Given the description of an element on the screen output the (x, y) to click on. 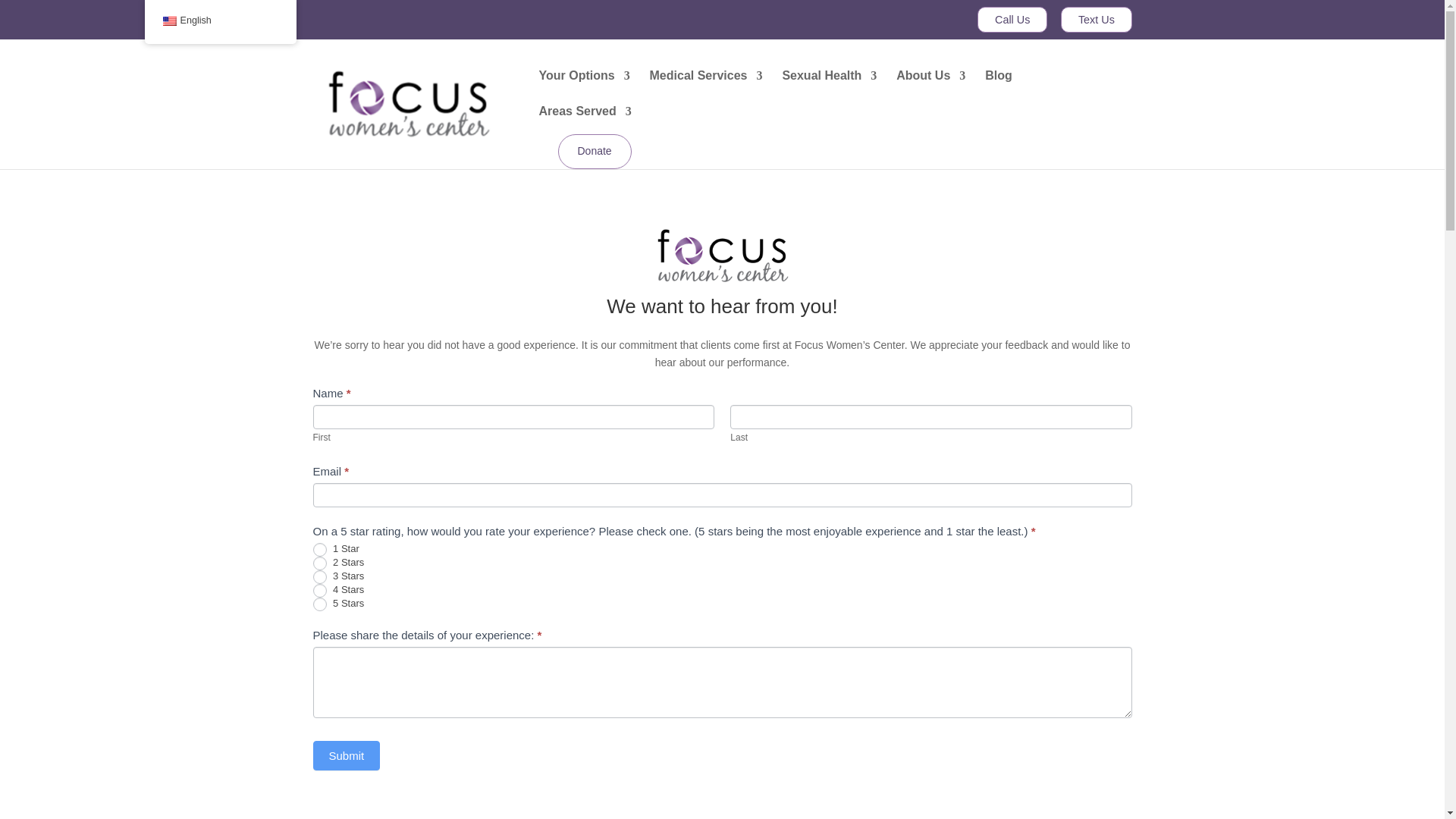
1 Star (319, 549)
Medical Services (705, 88)
2 Stars (319, 563)
5 Stars (319, 603)
Sexual Health (828, 88)
4 Stars (319, 590)
Areas Served (584, 123)
Text Us (1096, 19)
About Us (930, 88)
English (168, 20)
logo-from-existing-website (721, 255)
Your Options (583, 88)
3 Stars (319, 576)
Call Us (1011, 19)
